Given the description of an element on the screen output the (x, y) to click on. 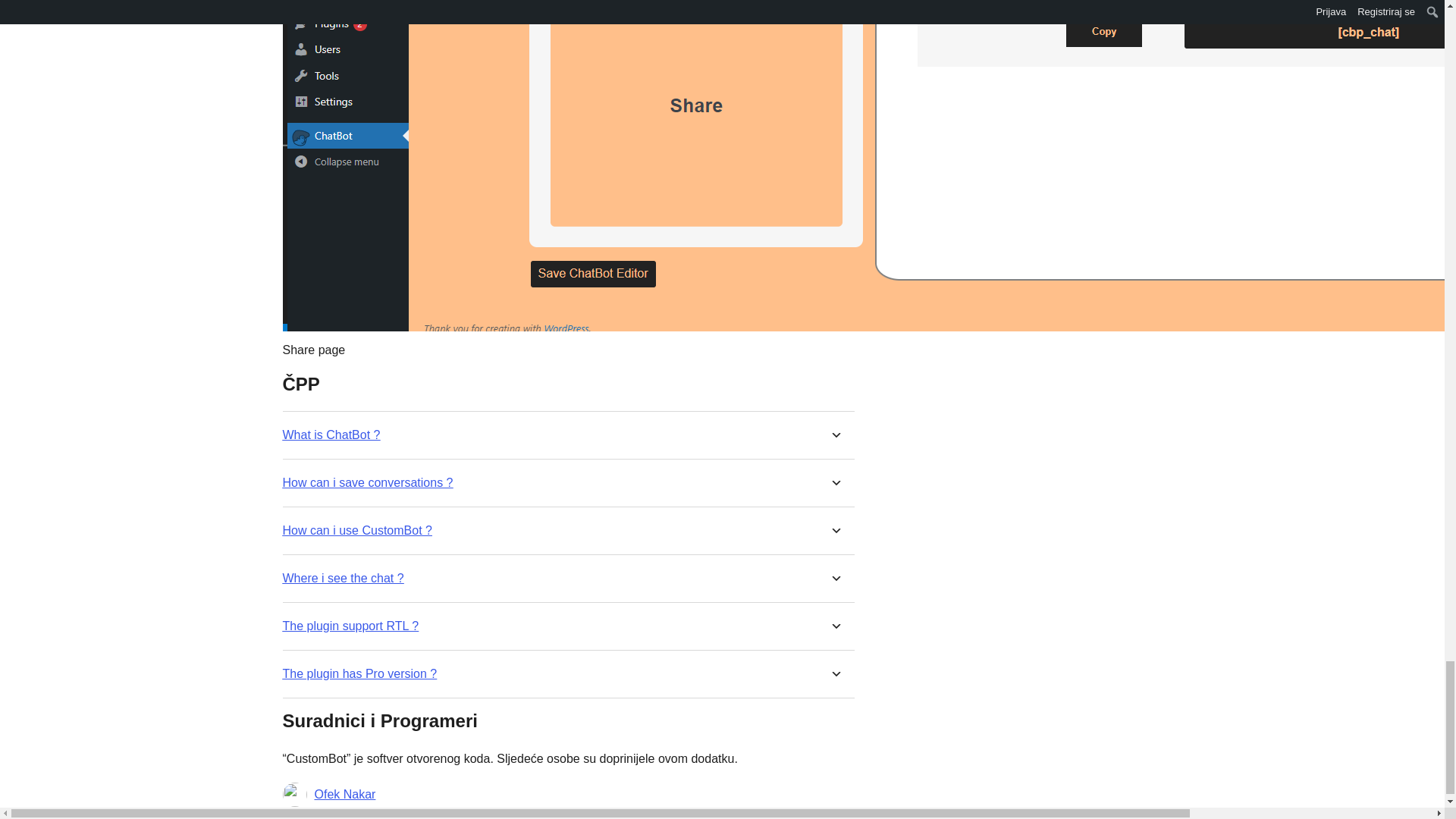
What is ChatBot ? (331, 434)
